Given the description of an element on the screen output the (x, y) to click on. 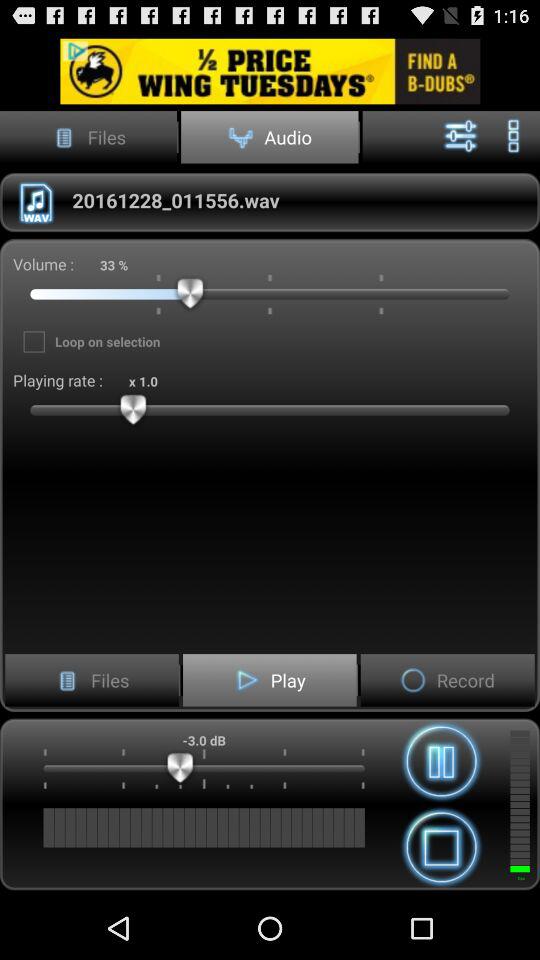
open advertisement (270, 70)
